Given the description of an element on the screen output the (x, y) to click on. 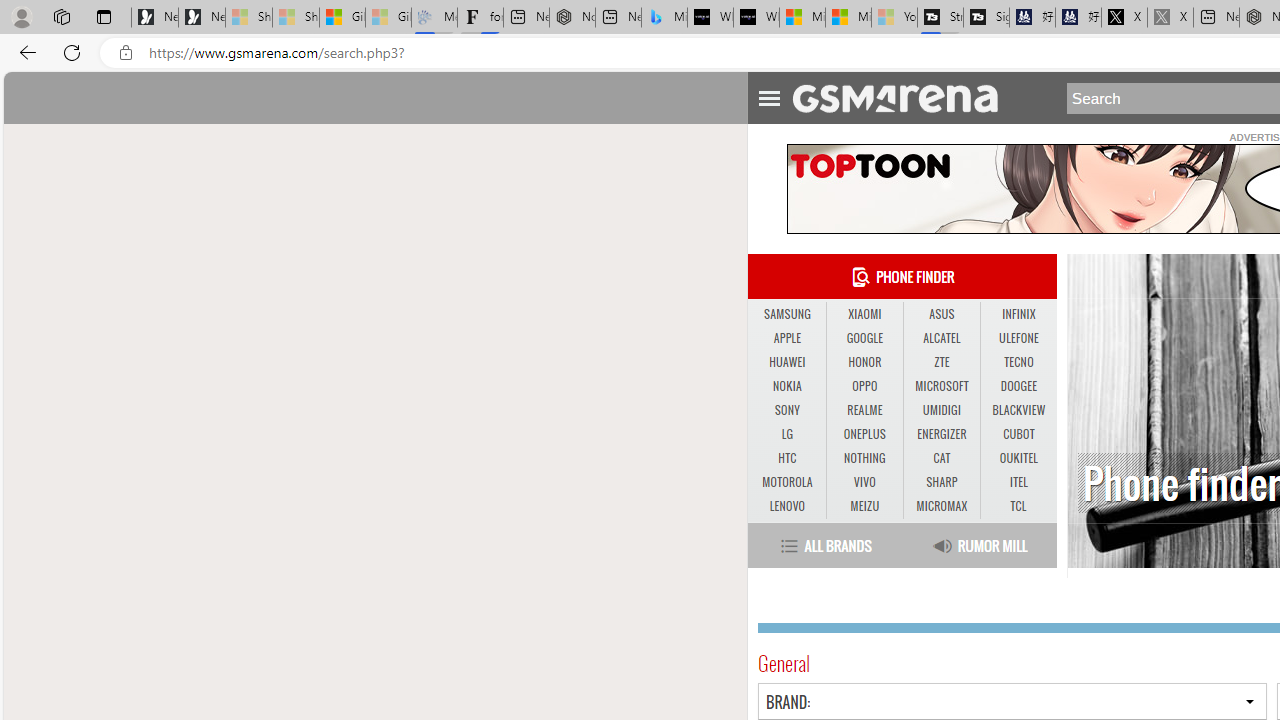
MICROMAX (941, 506)
GOOGLE (863, 338)
MEIZU (863, 506)
REALME (864, 411)
Microsoft Bing Travel - Shangri-La Hotel Bangkok (664, 17)
ALCATEL (941, 339)
UMIDIGI (941, 410)
HTC (786, 457)
ENERGIZER (941, 434)
ONEPLUS (864, 434)
HUAWEI (786, 362)
